Given the description of an element on the screen output the (x, y) to click on. 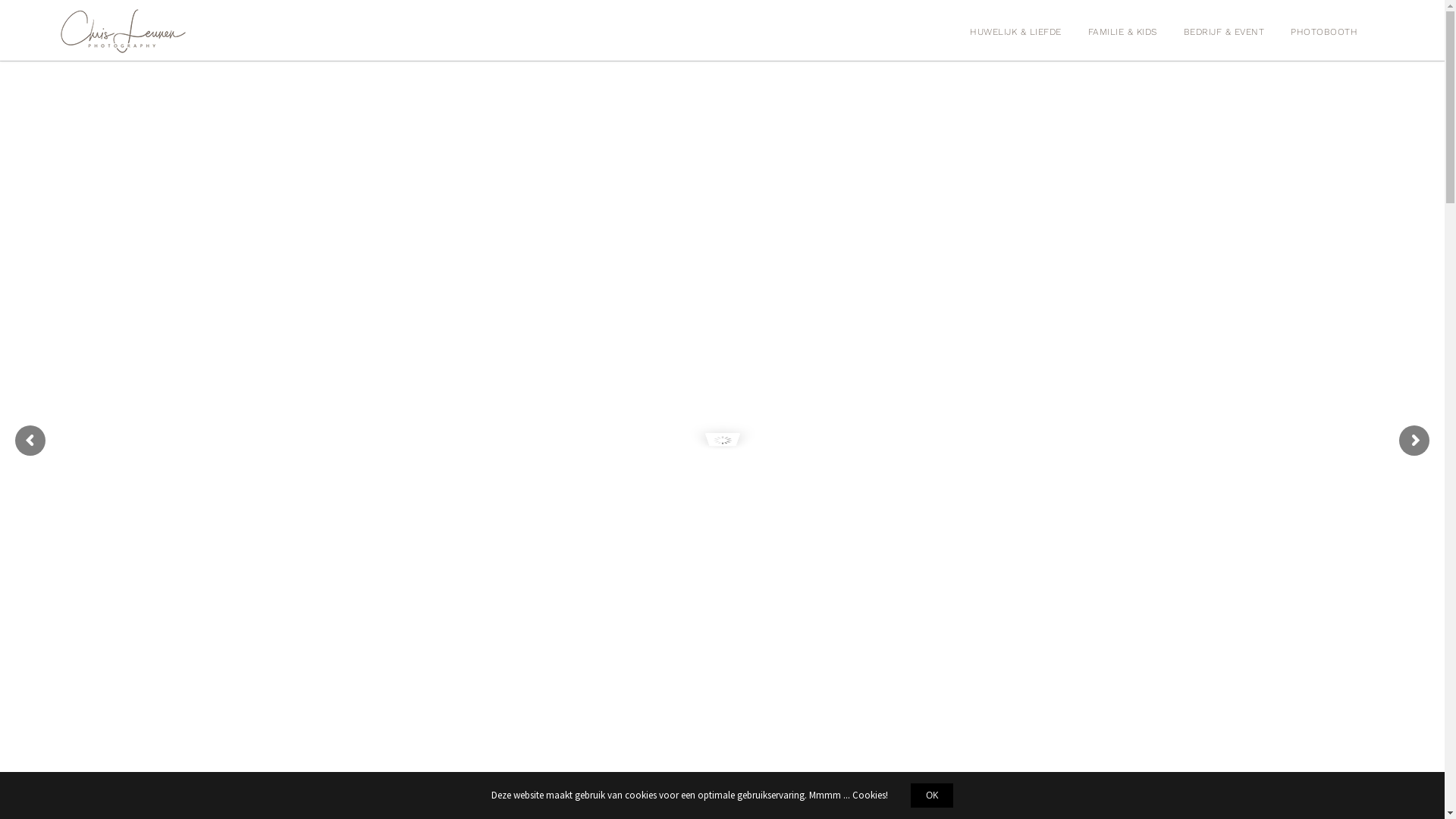
HUWELIJK & LIEFDE Element type: text (1015, 30)
FAMILIE & KIDS Element type: text (1121, 30)
PHOTOBOOTH Element type: text (1323, 30)
BEDRIJF & EVENT Element type: text (1223, 30)
OK Element type: text (931, 795)
